Given the description of an element on the screen output the (x, y) to click on. 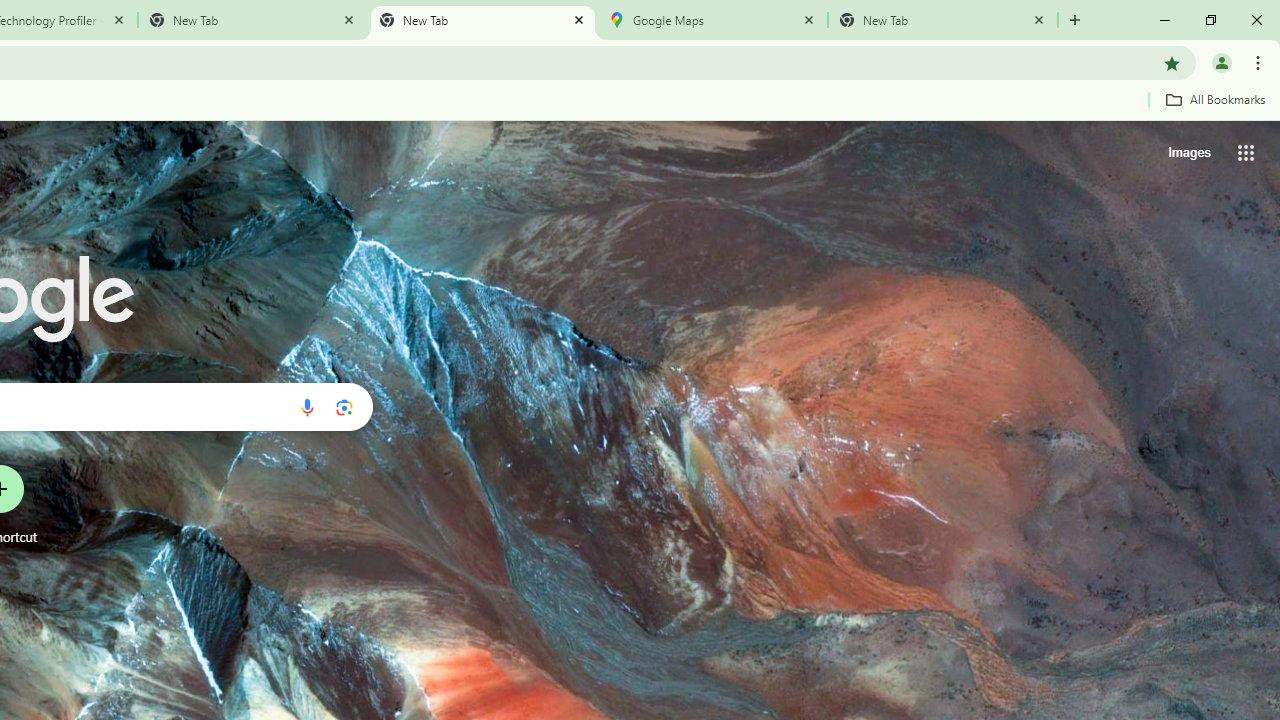
New Tab (482, 20)
New Tab (943, 20)
